Given the description of an element on the screen output the (x, y) to click on. 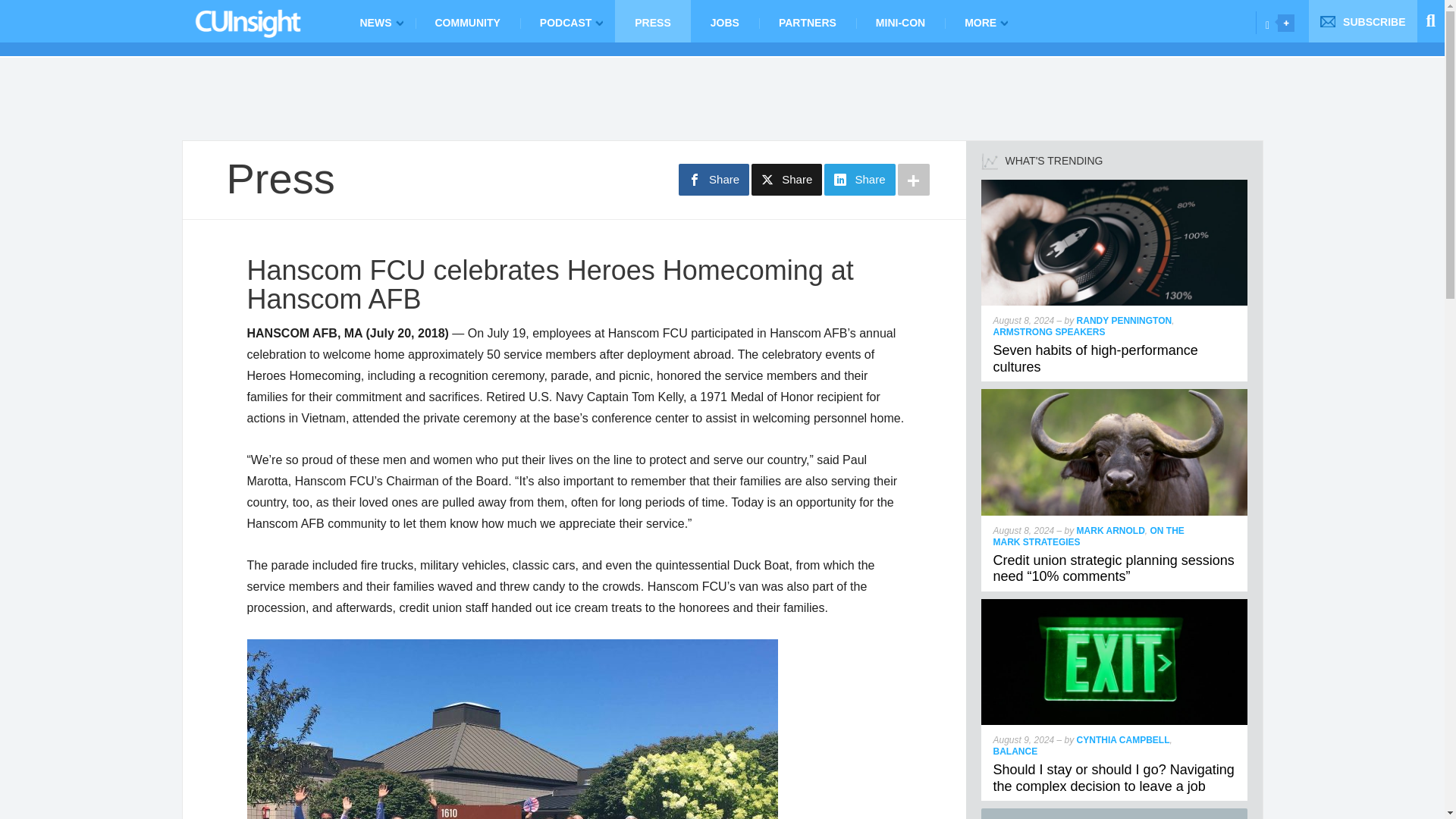
PARTNERS (807, 21)
Seven habits of high-performance cultures (1095, 358)
NEWS (376, 21)
MINI-CON (900, 21)
Share (859, 179)
PRESS (652, 21)
COMMUNITY (466, 21)
JOBS (724, 21)
Share (786, 179)
